Given the description of an element on the screen output the (x, y) to click on. 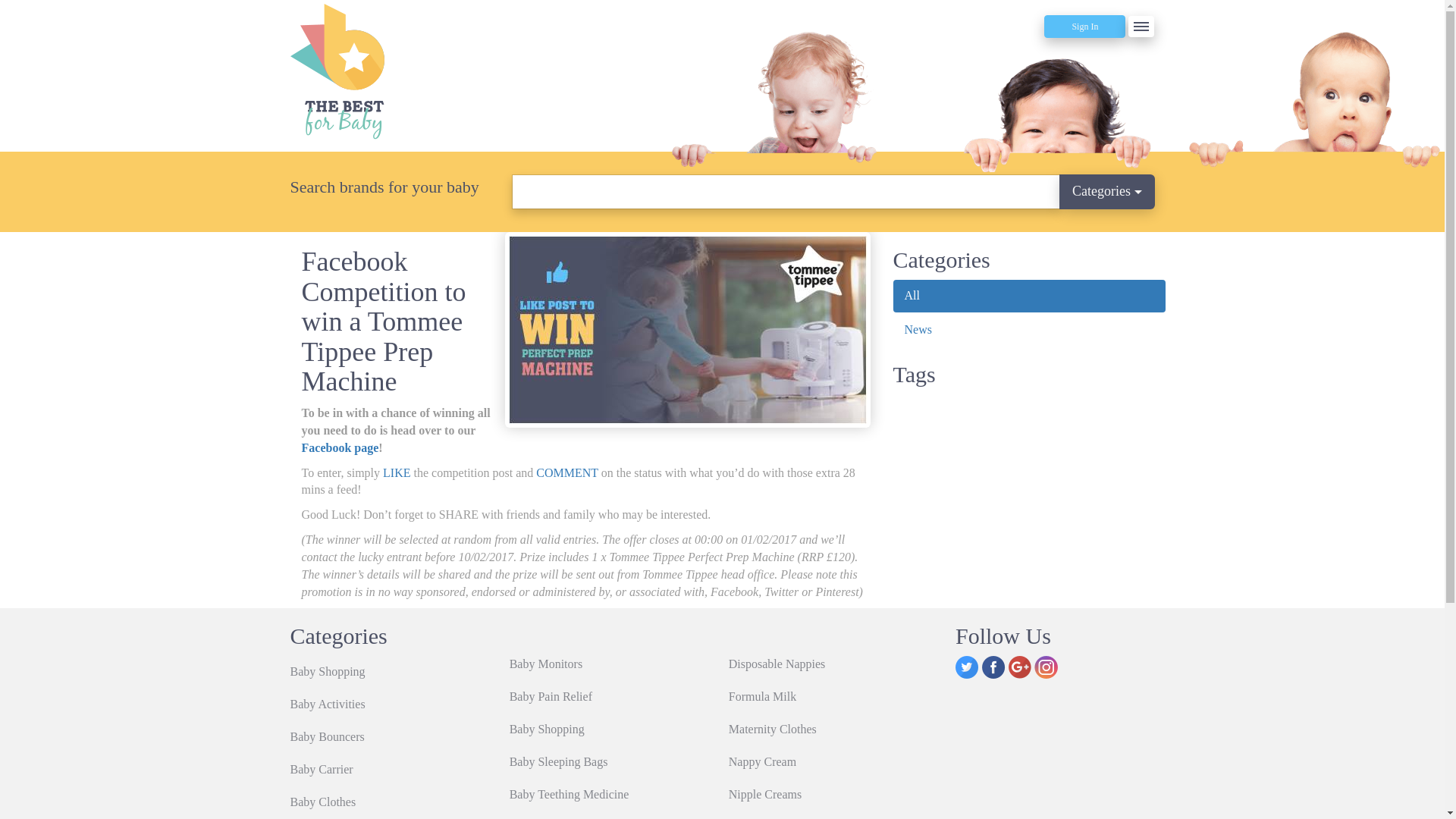
The Best For Baby (425, 71)
Categories (1106, 191)
Sign In (1084, 26)
